Given the description of an element on the screen output the (x, y) to click on. 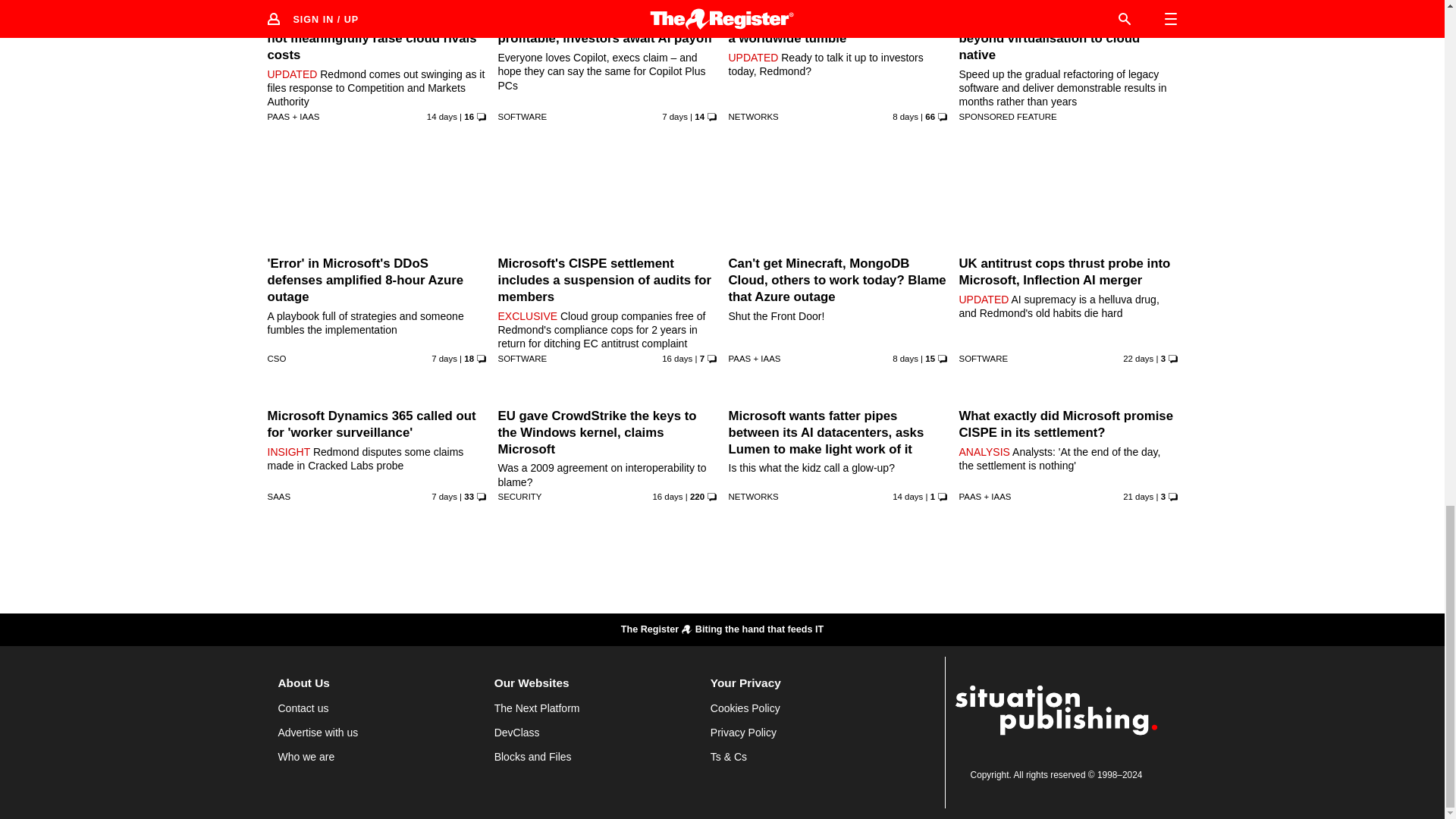
30 Jul 2024 14:6 (905, 116)
24 Jul 2024 11:34 (441, 116)
16 Jul 2024 15:0 (1137, 358)
31 Jul 2024 12:58 (443, 358)
31 Jul 2024 7:39 (443, 496)
31 Jul 2024 5:38 (674, 116)
30 Jul 2024 19:41 (905, 358)
22 Jul 2024 13:0 (667, 496)
22 Jul 2024 9:34 (677, 358)
